Given the description of an element on the screen output the (x, y) to click on. 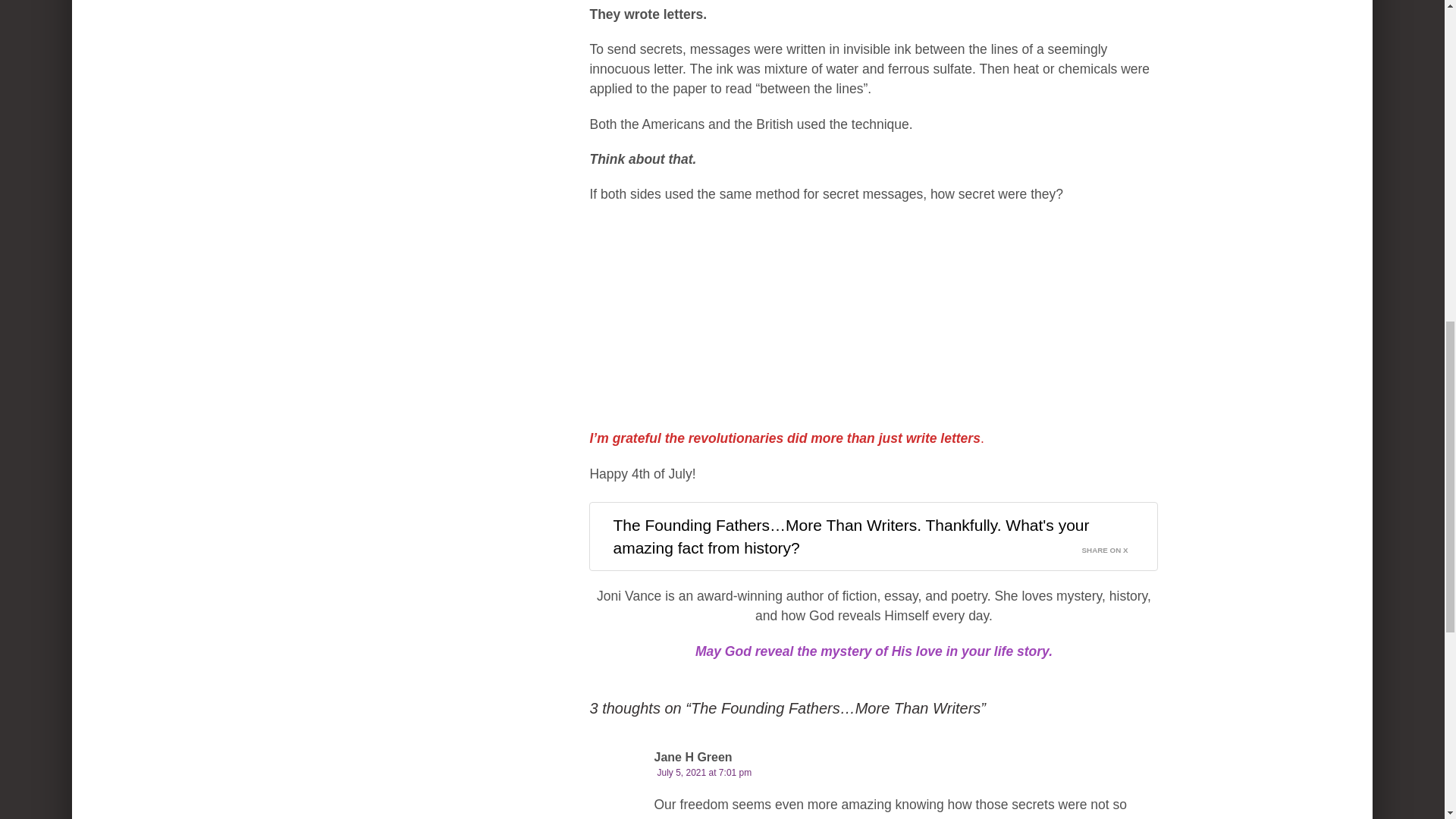
July 5, 2021 at 7:01 pm (703, 772)
SHARE ON X (1114, 546)
